Given the description of an element on the screen output the (x, y) to click on. 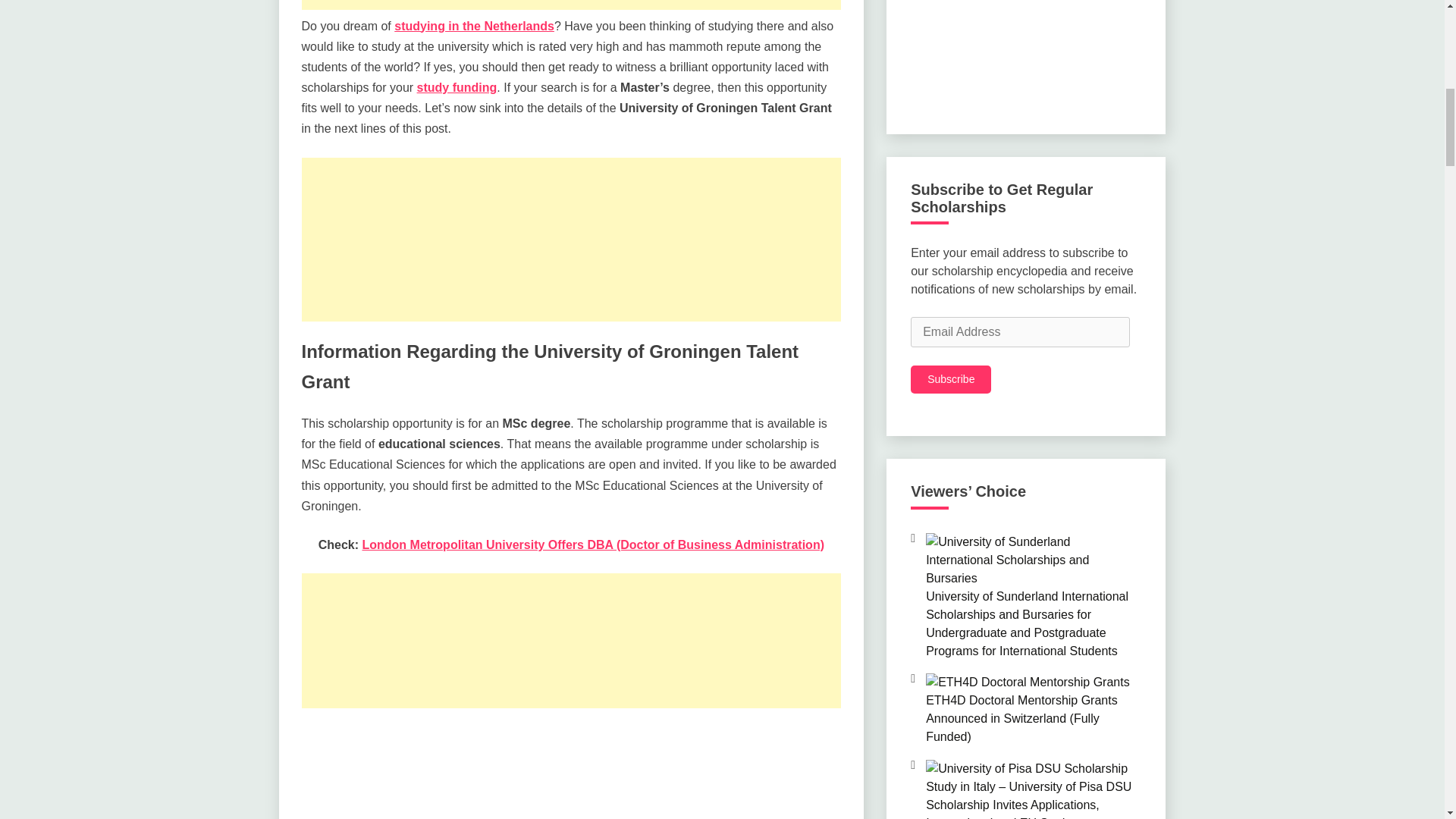
studying in the Netherlands (474, 25)
Advertisement (571, 4)
Advertisement (571, 772)
Advertisement (571, 239)
study funding (456, 87)
